Given the description of an element on the screen output the (x, y) to click on. 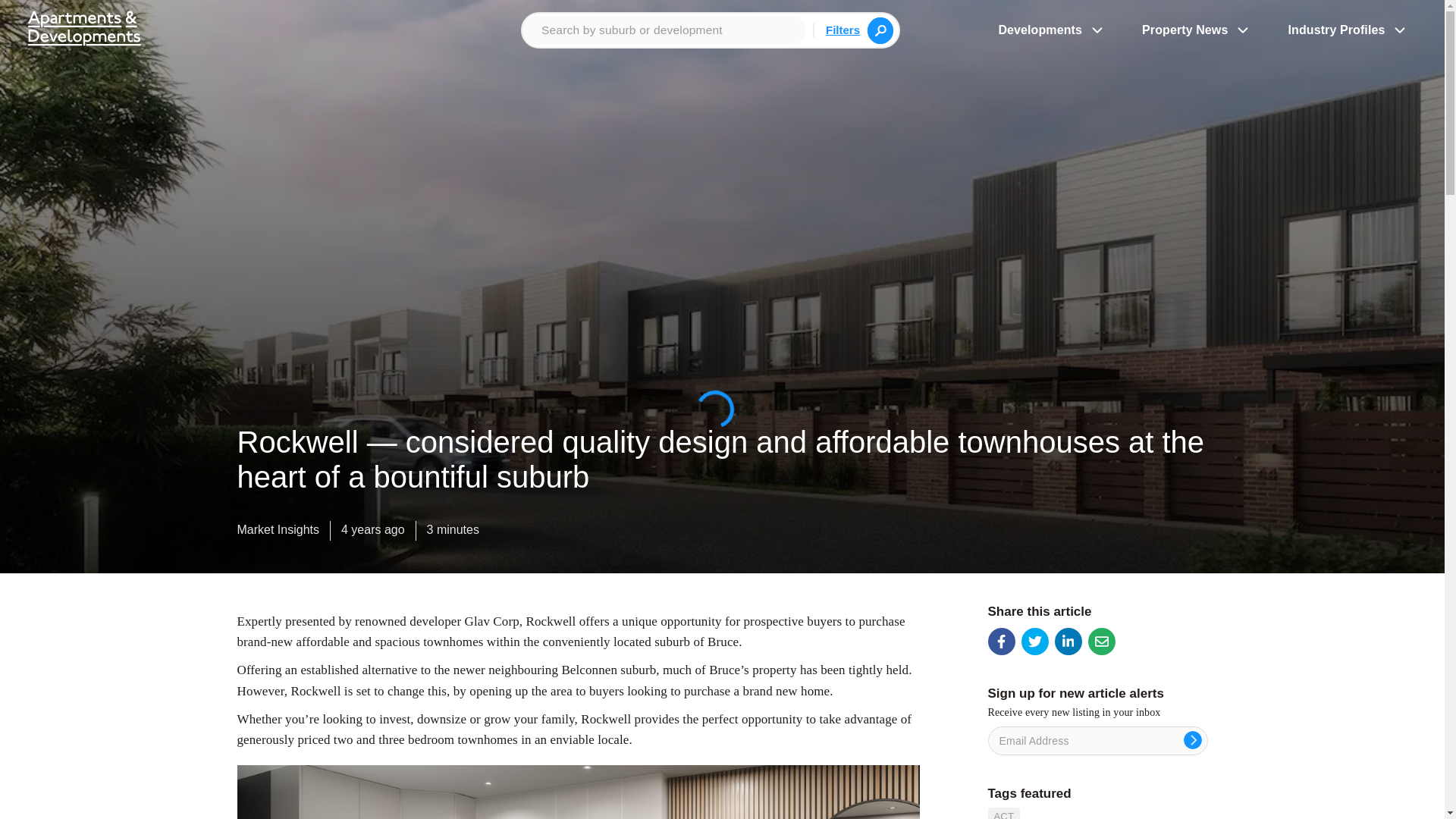
Market Insights (276, 532)
ACT (1003, 813)
Filters (842, 29)
